Given the description of an element on the screen output the (x, y) to click on. 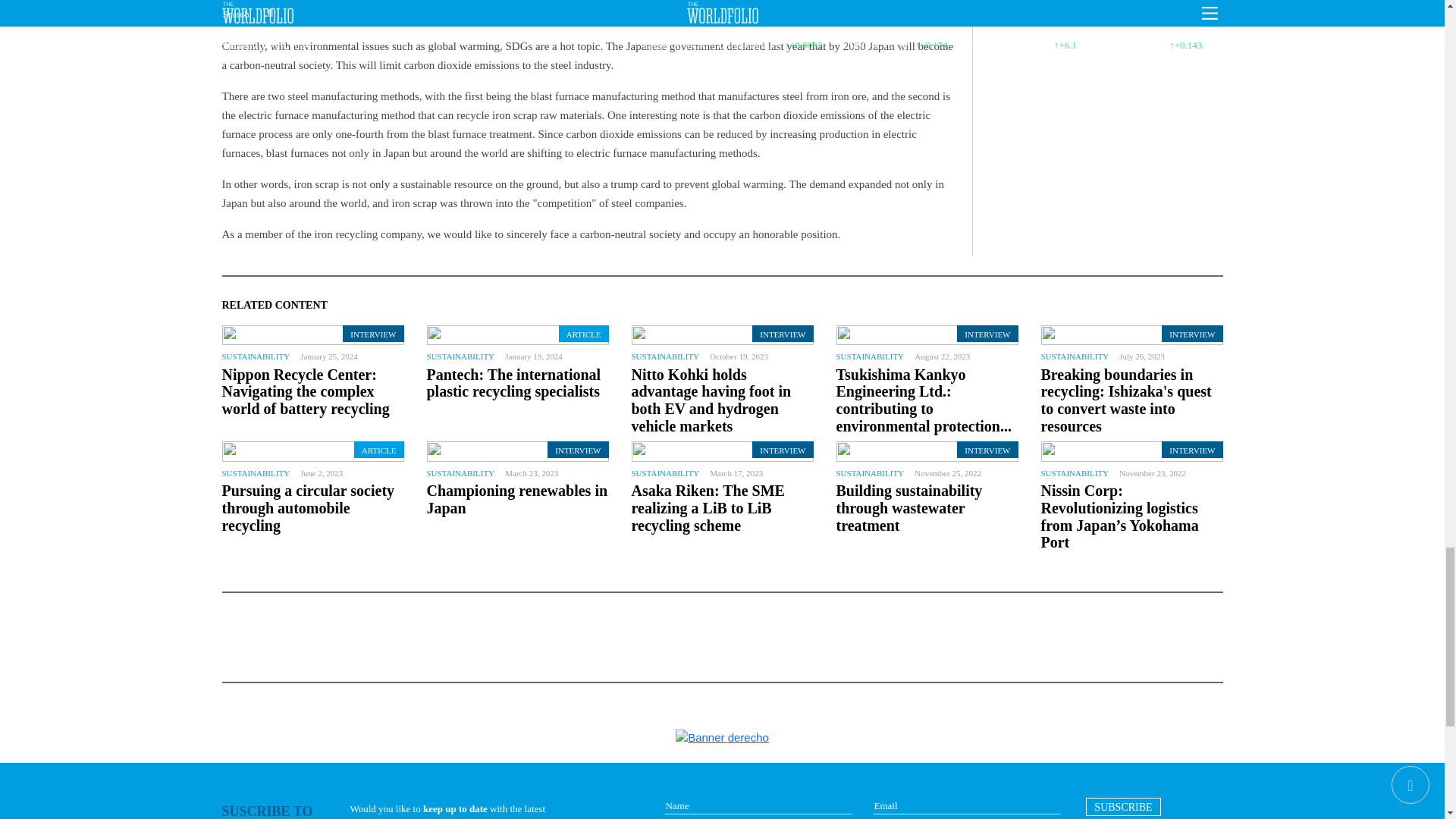
SUBSCRIBE (1123, 806)
